Given the description of an element on the screen output the (x, y) to click on. 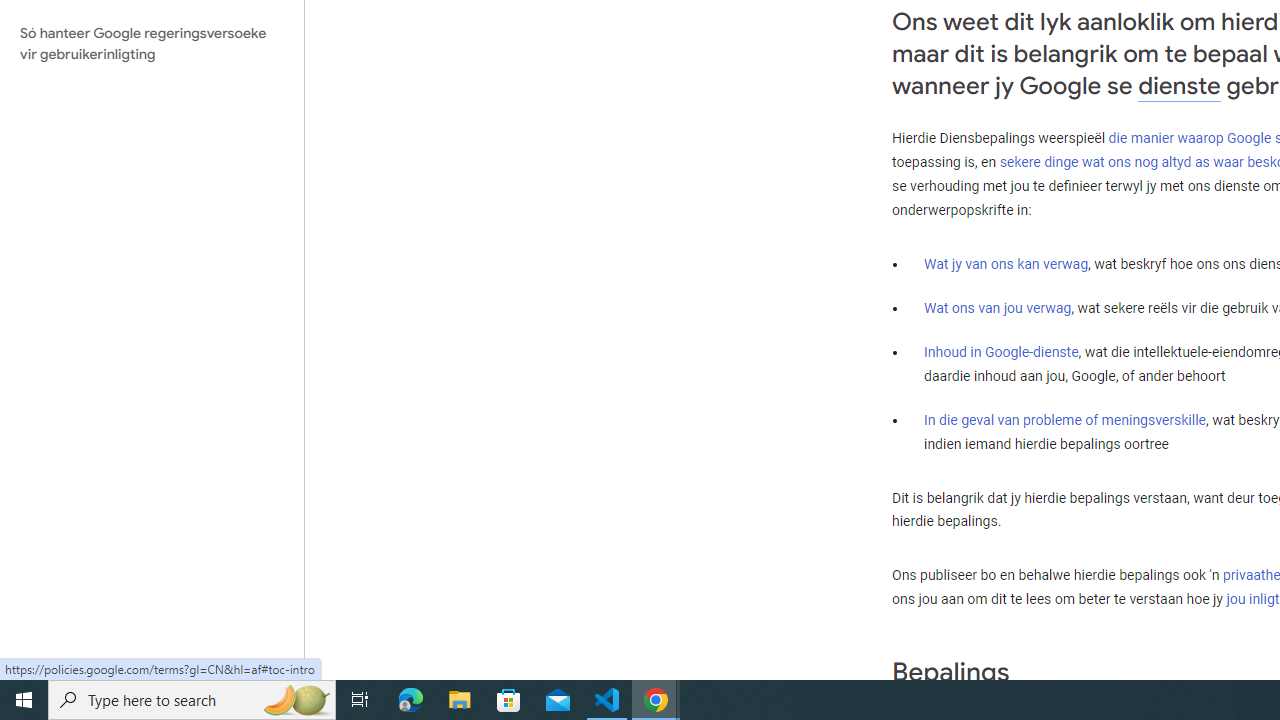
In die geval van probleme of meningsverskille (1064, 420)
Wat ons van jou verwag (998, 307)
Inhoud in Google-dienste (1001, 351)
dienste (1179, 85)
Wat jy van ons kan verwag (1006, 263)
